Given the description of an element on the screen output the (x, y) to click on. 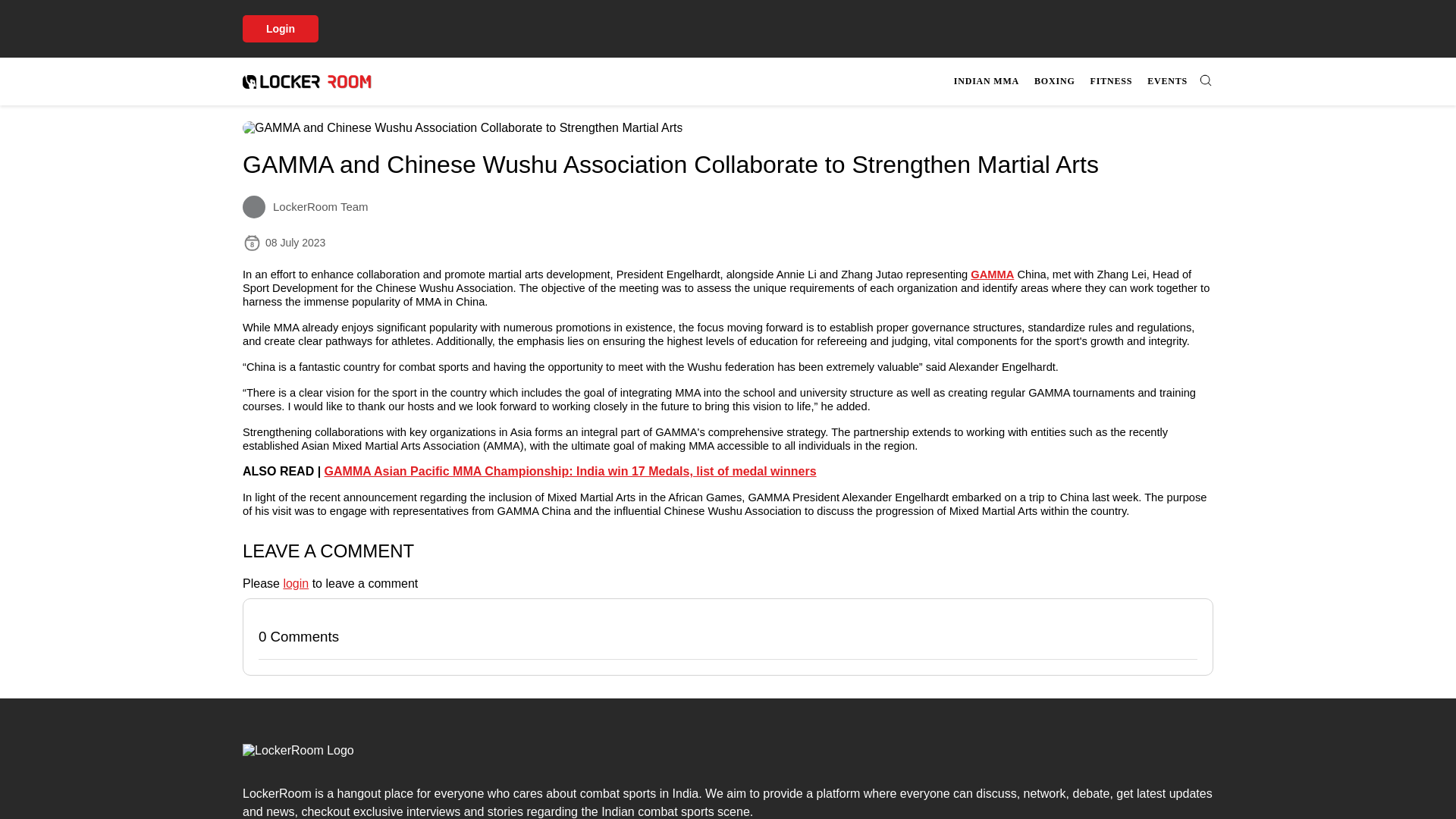
INDIAN MMA (986, 81)
BOXING (1053, 81)
FITNESS (1111, 81)
EVENTS (1167, 81)
GAMMA (1080, 81)
